Given the description of an element on the screen output the (x, y) to click on. 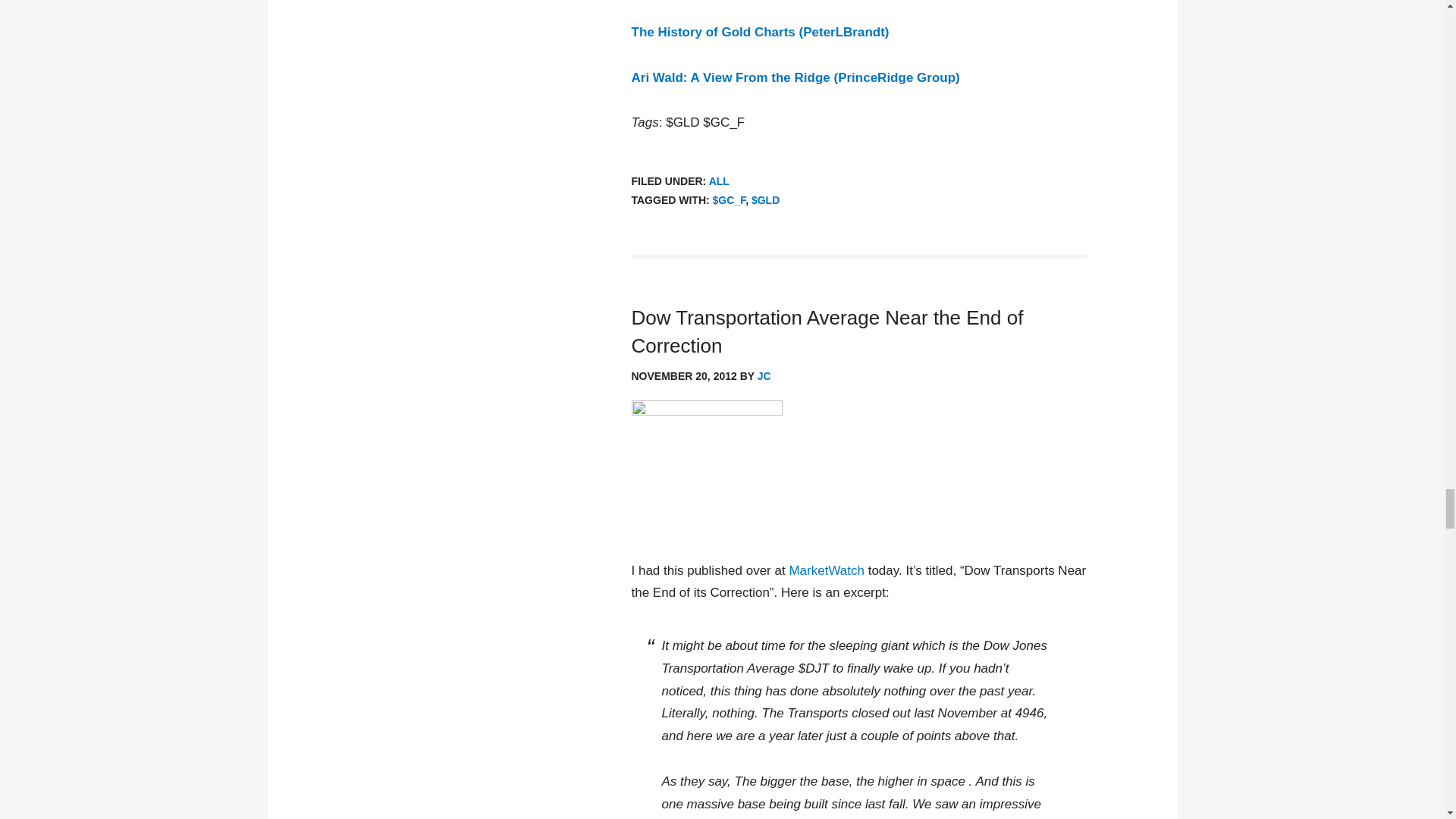
MarketWatch WSJ (705, 429)
